Given the description of an element on the screen output the (x, y) to click on. 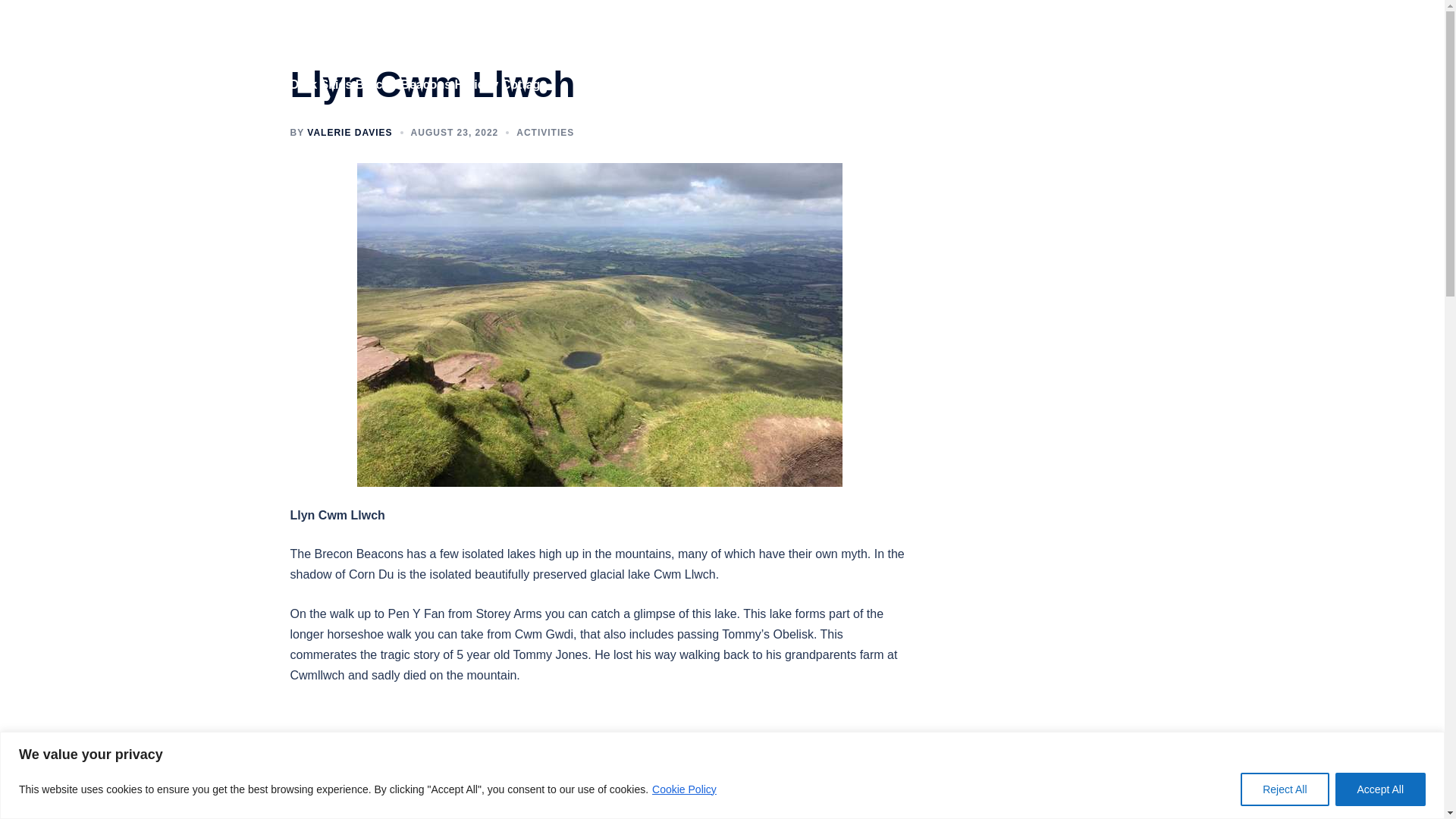
Home (708, 54)
VALERIE DAVIES (349, 132)
ACTIVITIES (544, 132)
About Us (850, 54)
Gallery (910, 54)
Booking (1124, 54)
Aberyscir Coach House (385, 43)
Brecon Beacons (987, 54)
Accept All (1380, 788)
Cookie Policy (683, 789)
Coach House (775, 54)
Find Us (1066, 54)
Reject All (1283, 788)
AUGUST 23, 2022 (454, 132)
